Given the description of an element on the screen output the (x, y) to click on. 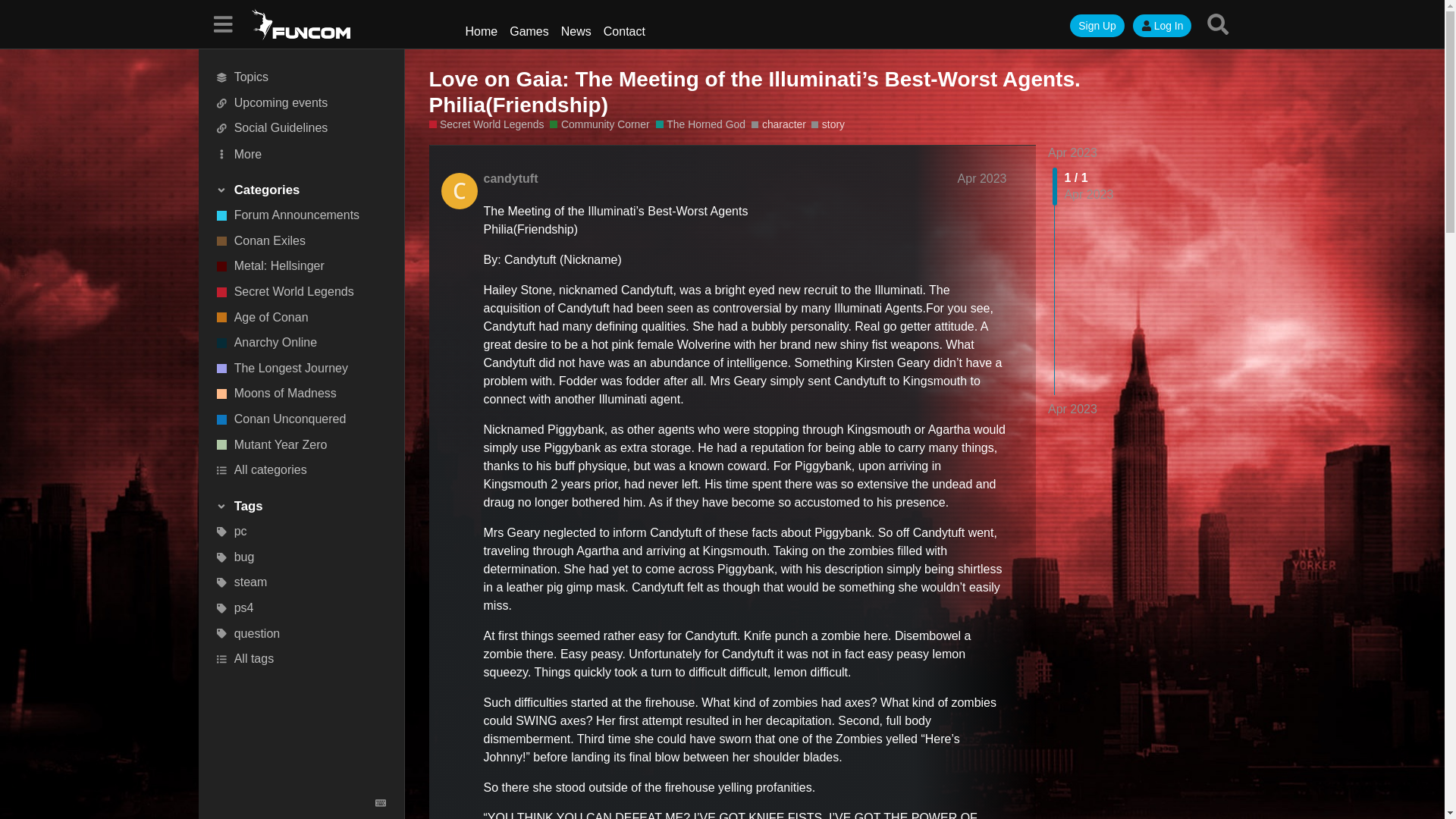
Toggle section (299, 190)
Topics (301, 77)
question (301, 633)
The Longest Journey (301, 368)
Conan Unconquered (301, 419)
Contact (623, 31)
pc (301, 532)
Social Guidelines (301, 128)
